Given the description of an element on the screen output the (x, y) to click on. 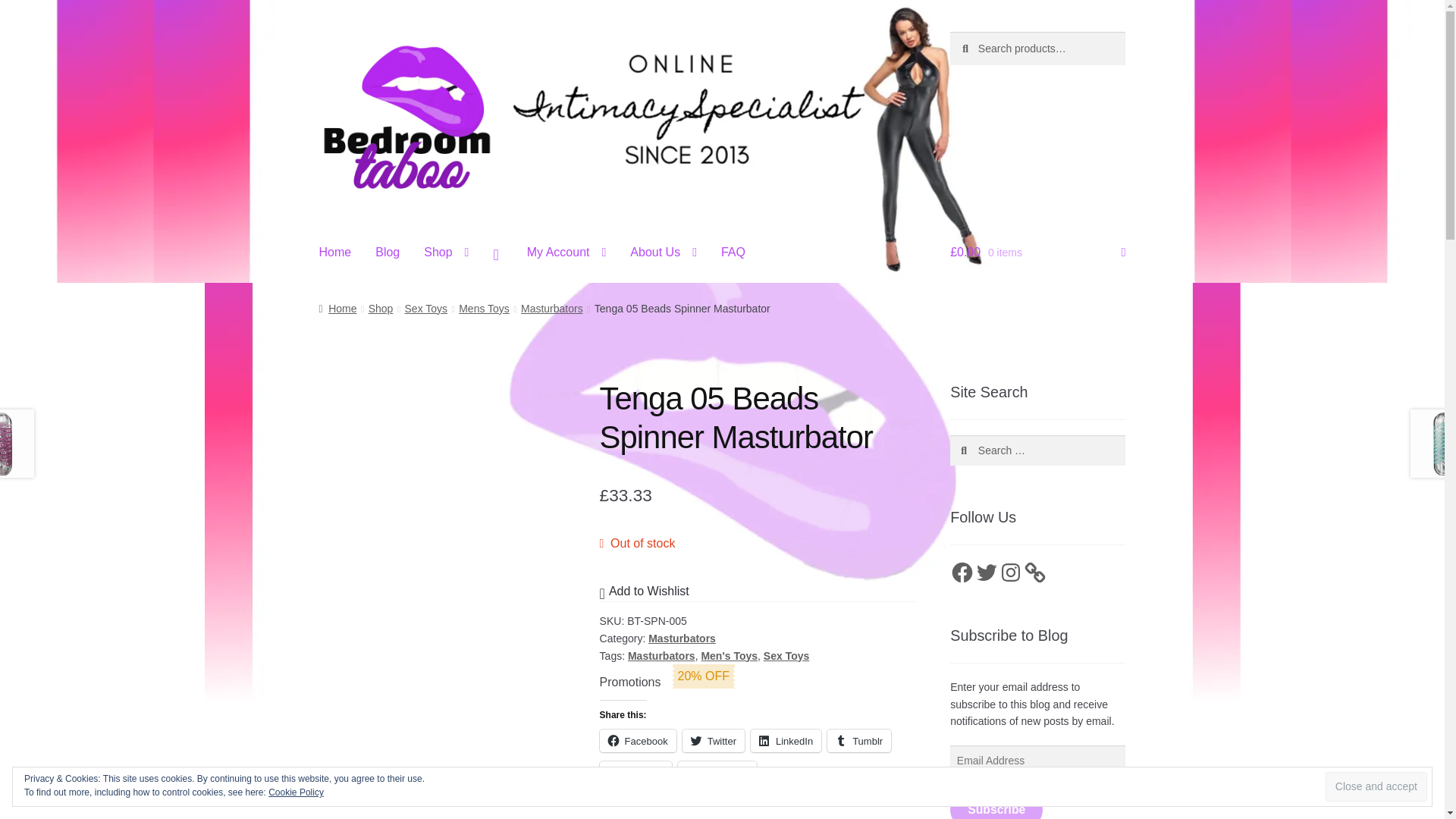
Click to share on Tumblr (859, 740)
Shop (446, 252)
Click to share on WhatsApp (717, 772)
Click to share on Pinterest (635, 772)
Click to share on Facebook (638, 740)
About Us (663, 252)
Click to share on LinkedIn (786, 740)
My Account (566, 252)
Close and accept (1375, 786)
Home (335, 252)
Click to share on Twitter (713, 740)
